Given the description of an element on the screen output the (x, y) to click on. 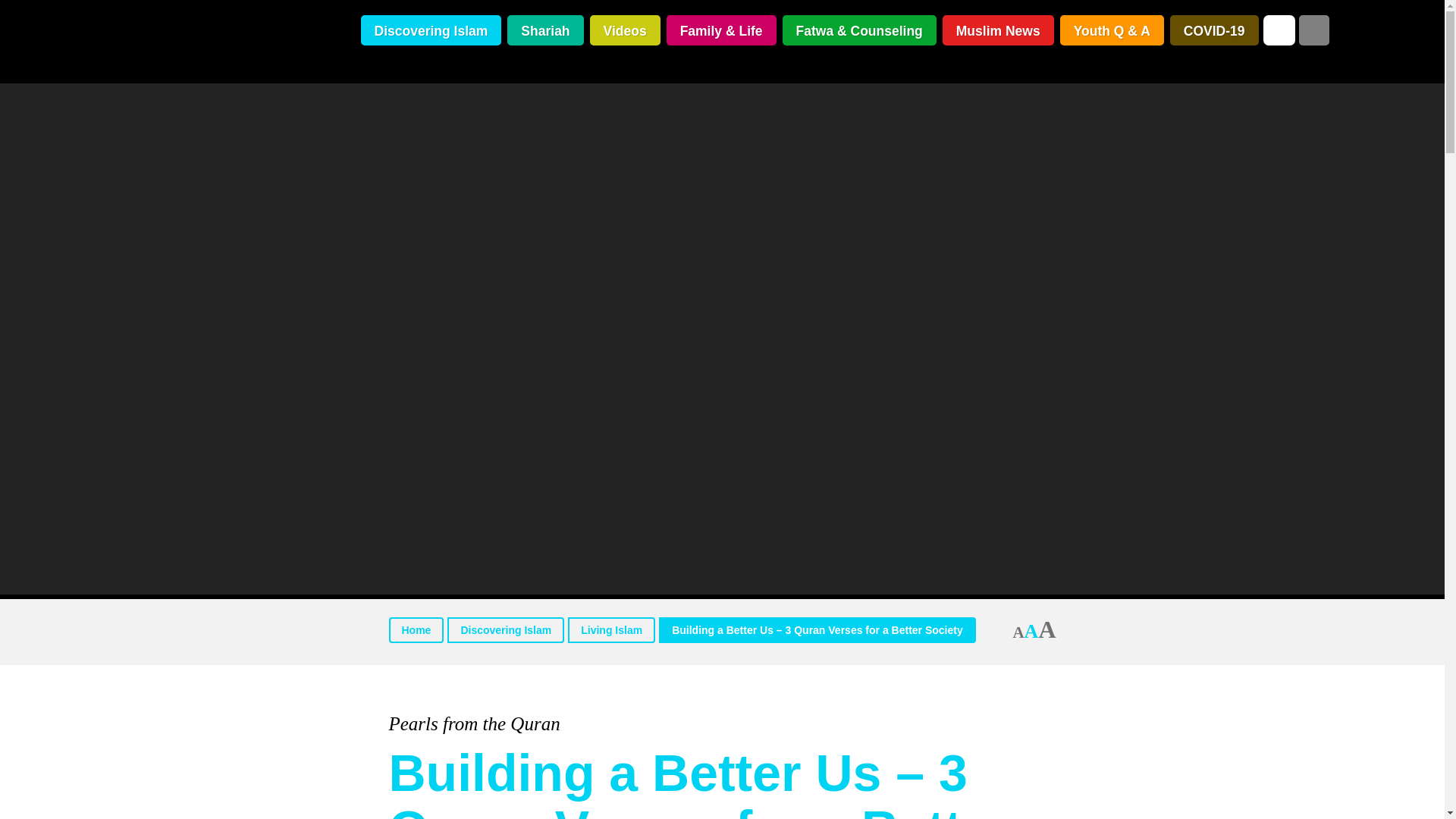
Muslim News (998, 30)
Home (416, 629)
COVID-19 (1214, 30)
Search (1312, 30)
Living Islam (611, 629)
Search (1312, 30)
About Islam (208, 41)
Discovering Islam (505, 629)
Shariah (544, 30)
Discovering Islam (431, 30)
Home (416, 629)
Videos (625, 30)
